Given the description of an element on the screen output the (x, y) to click on. 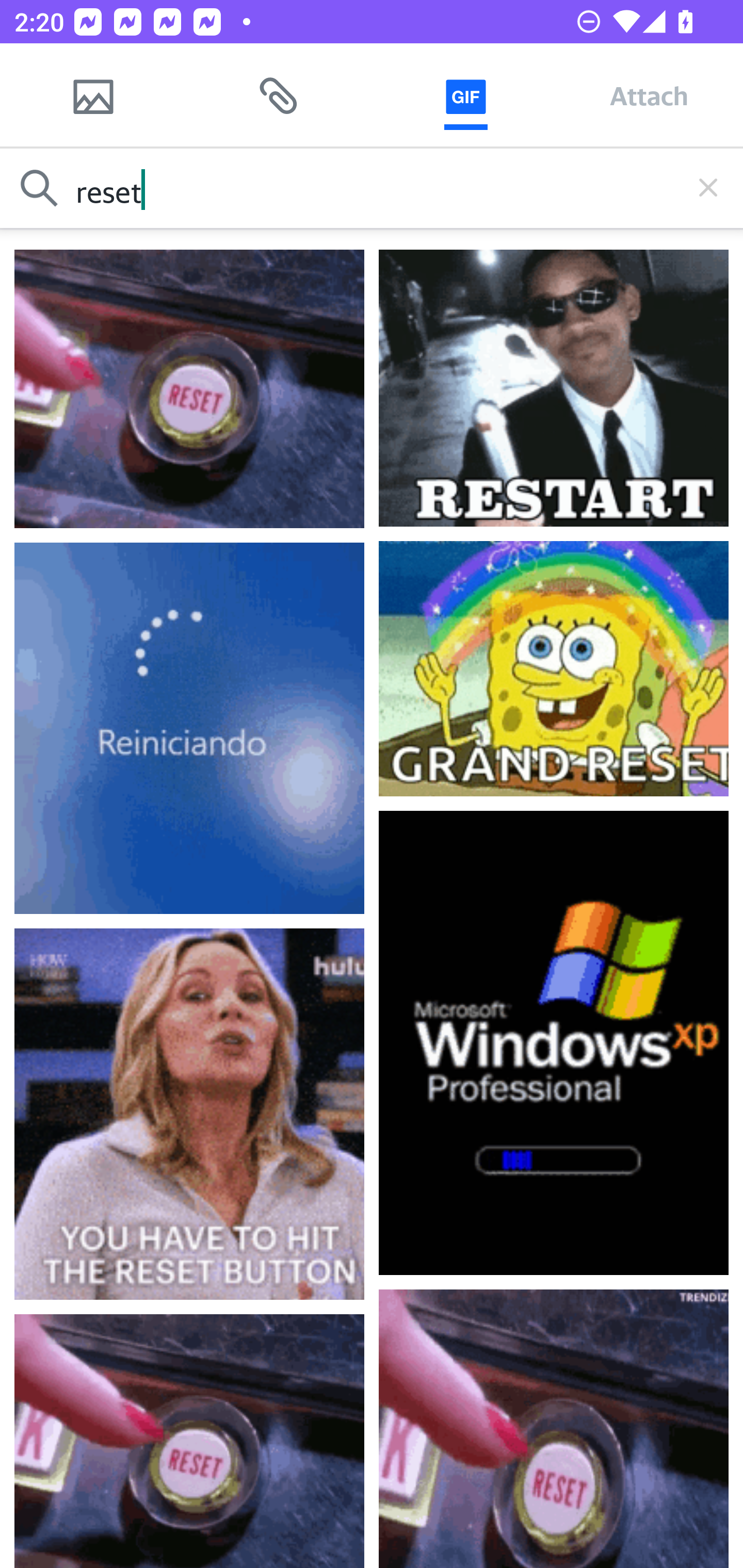
Camera photos (93, 95)
Recent attachments from mail (279, 95)
GIFs (465, 95)
Attach (649, 95)
reset (371, 187)
